Given the description of an element on the screen output the (x, y) to click on. 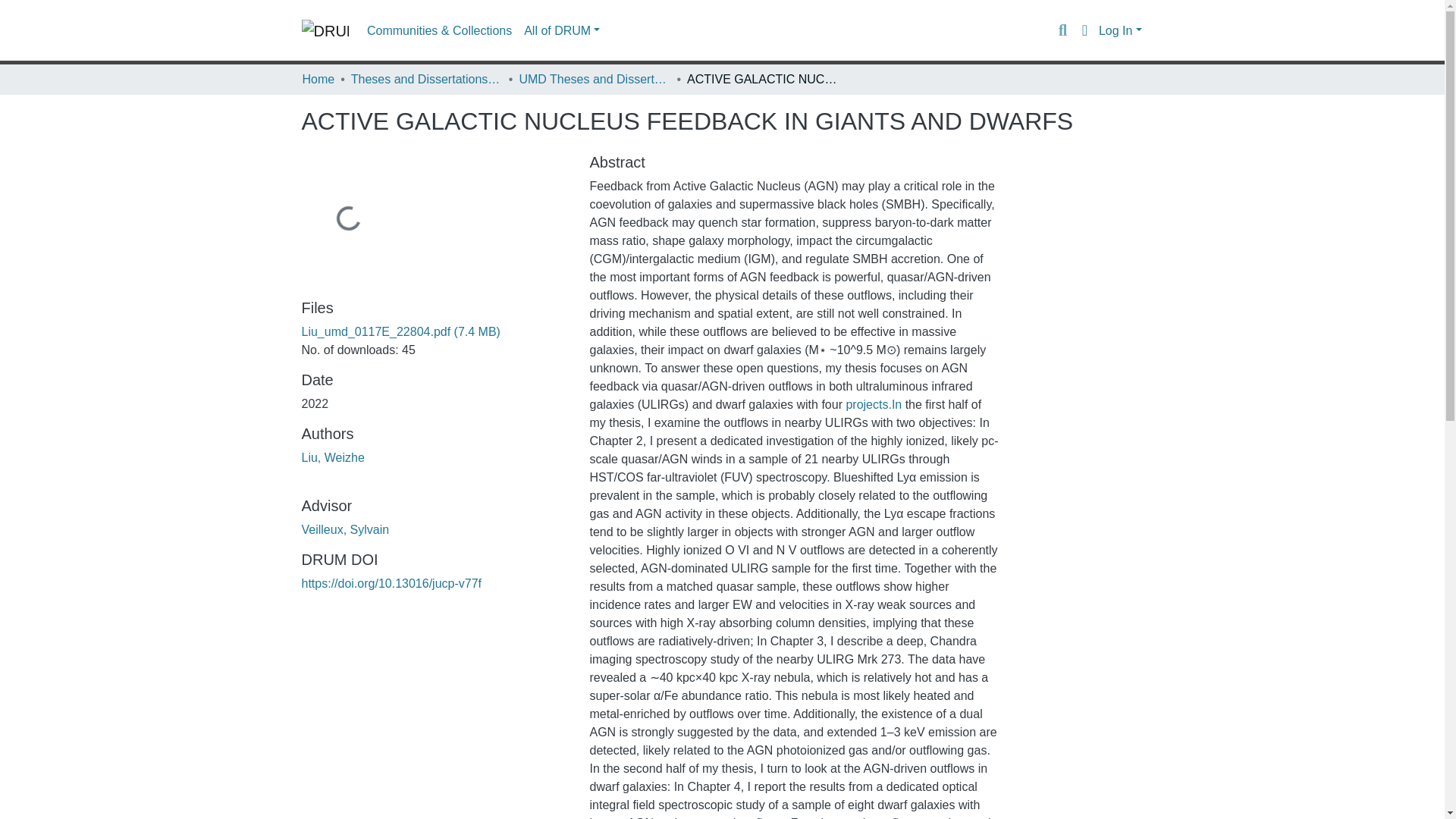
Veilleux, Sylvain (345, 529)
Language switch (1084, 30)
Theses and Dissertations from UMD (426, 79)
Log In (1119, 30)
UMD Theses and Dissertations (593, 79)
All of DRUM (561, 30)
Liu, Weizhe (333, 457)
projects.In (873, 404)
Home (317, 79)
Search (1061, 30)
